Given the description of an element on the screen output the (x, y) to click on. 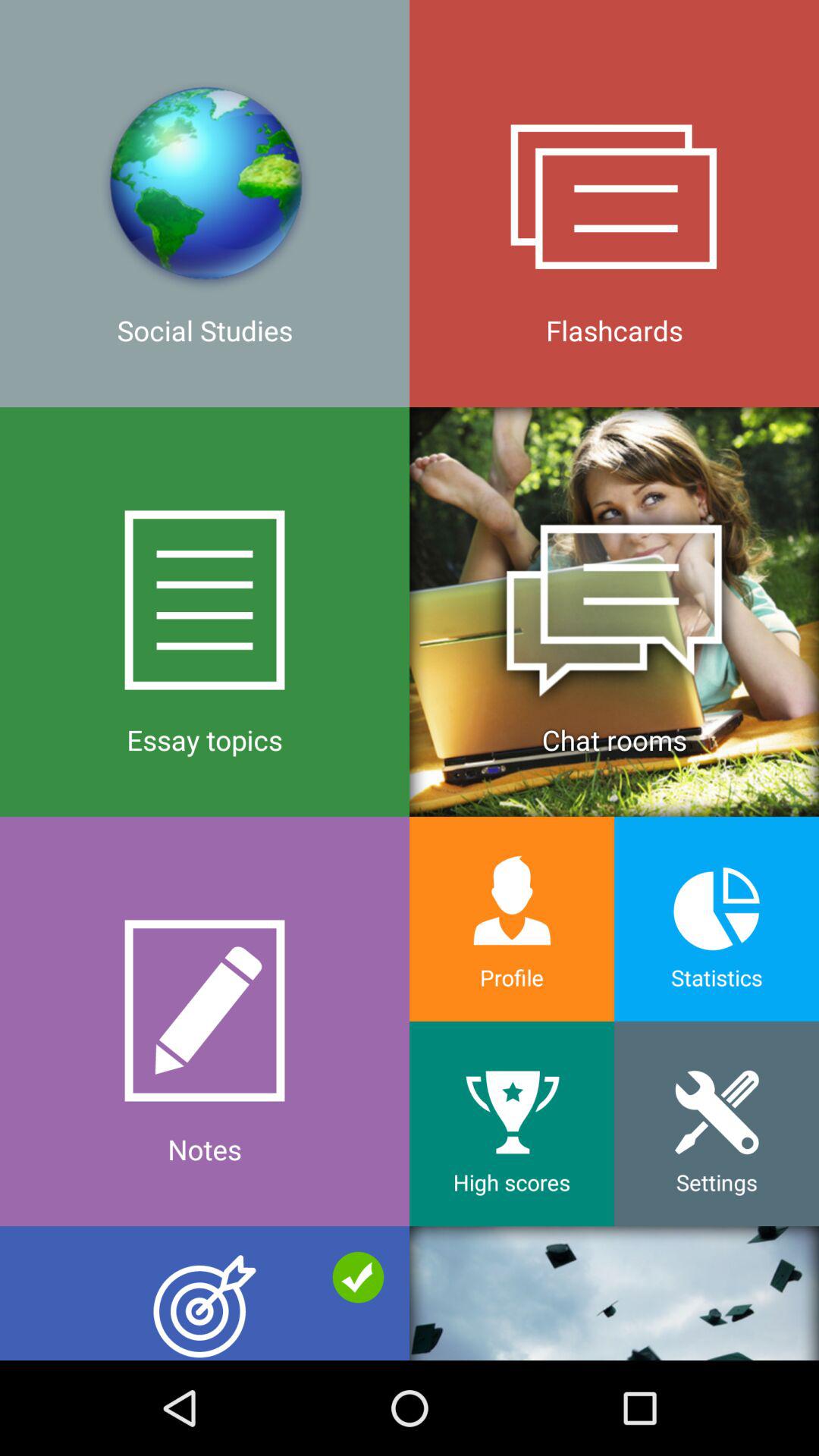
select item next to high scores (204, 1293)
